Given the description of an element on the screen output the (x, y) to click on. 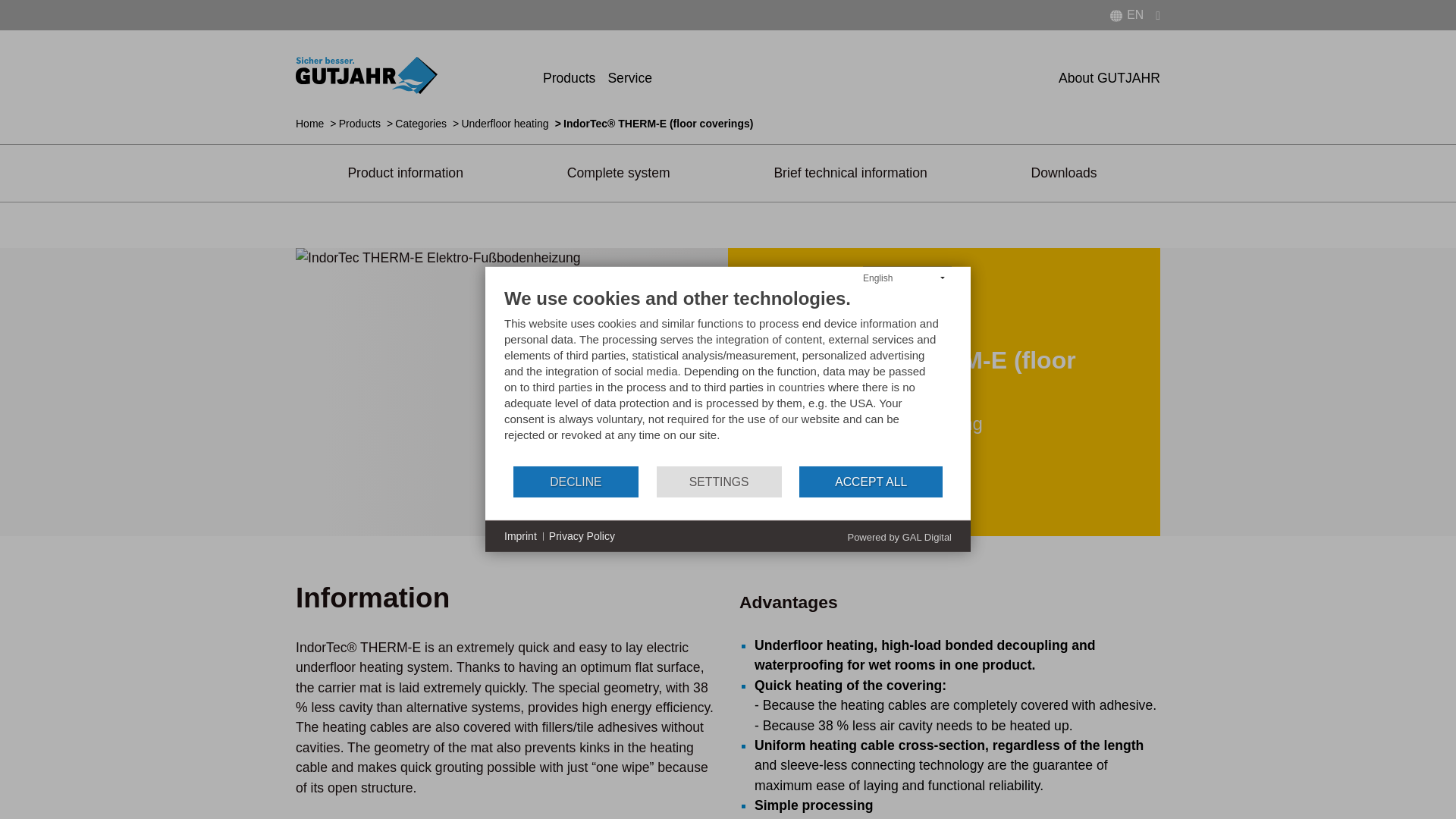
About GUTJAHR (1106, 75)
Products (569, 75)
Service (626, 75)
About GUTJAHR (1106, 75)
Products (569, 75)
EN (1125, 15)
